Given the description of an element on the screen output the (x, y) to click on. 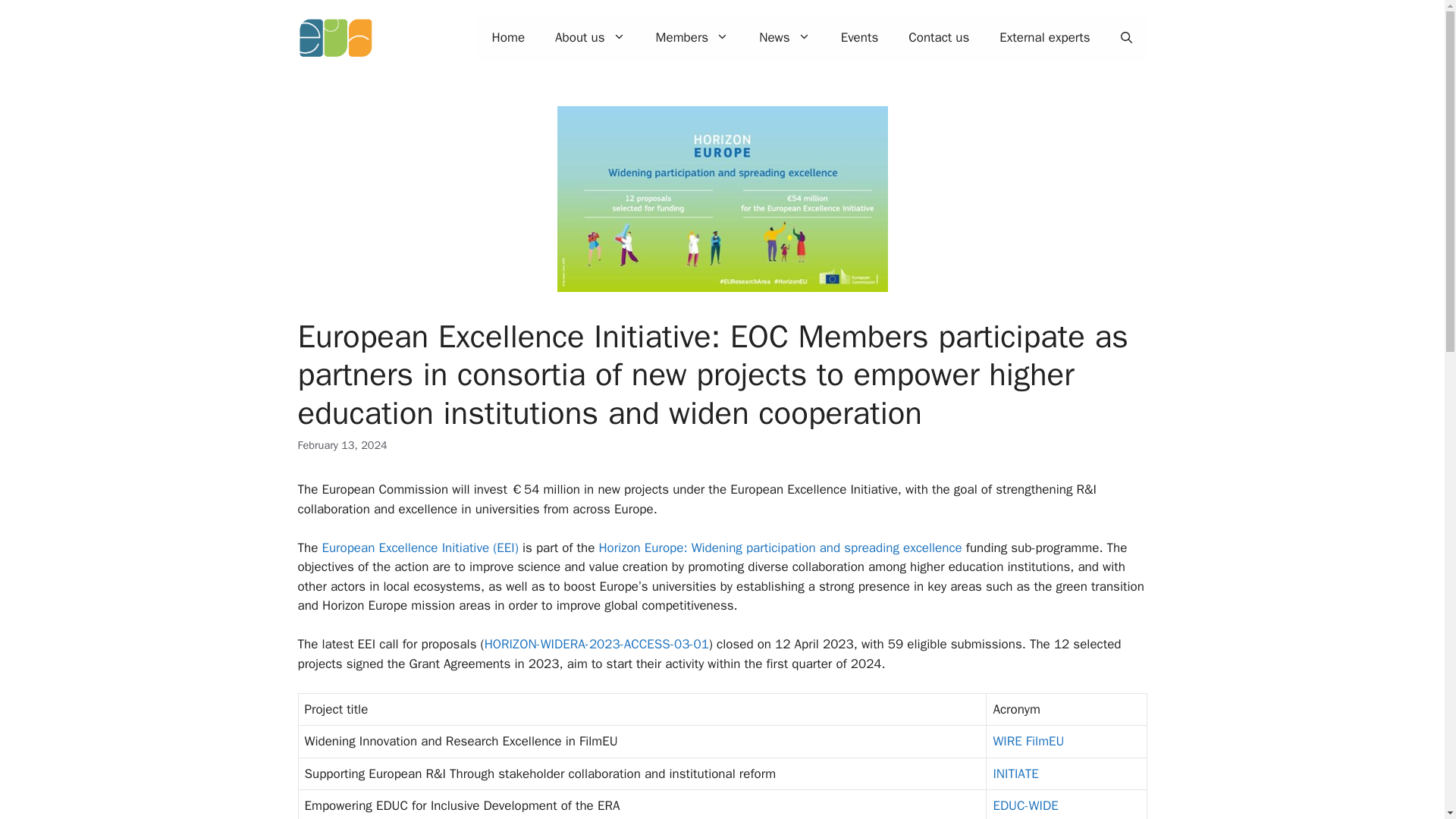
About us (590, 37)
HORIZON-WIDERA-2023-ACCESS-03-01 (596, 643)
Events (859, 37)
Contact us (938, 37)
Members (692, 37)
Home (508, 37)
External experts (1044, 37)
INITIATE (1015, 773)
WIRE FilmEU (1028, 741)
EDUC-WIDE (1025, 805)
News (784, 37)
